Given the description of an element on the screen output the (x, y) to click on. 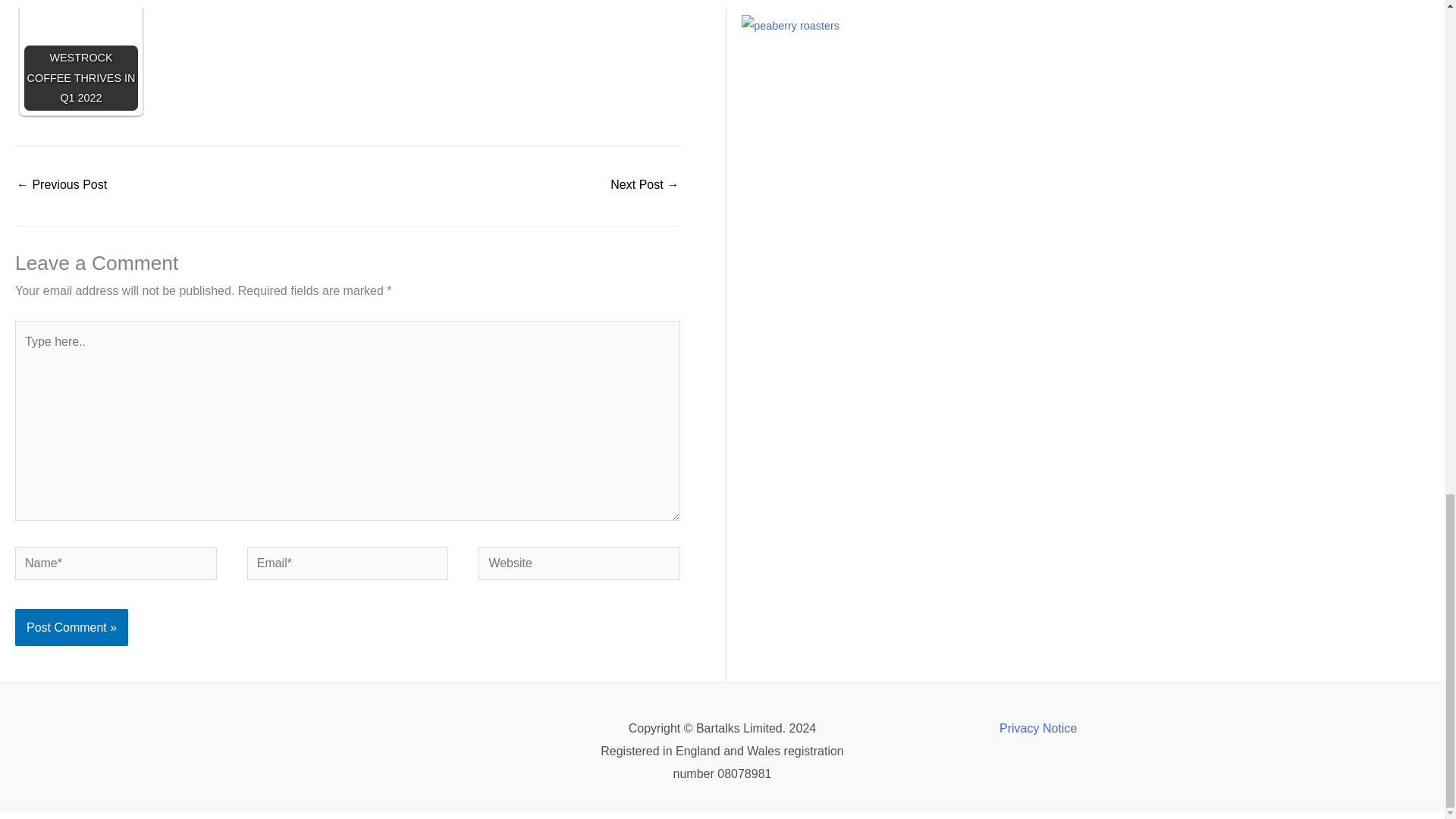
WESTROCK COFFEE THRIVES IN Q1 2022 (81, 55)
BAZZARA PARTNERS WITH BARTALKS TO EXPORT COFFEE CULTURE (644, 185)
MIND THE FLAVOUR - A DESCRIPTION OF SENSORIAL INTERACTIONS (61, 185)
